Given the description of an element on the screen output the (x, y) to click on. 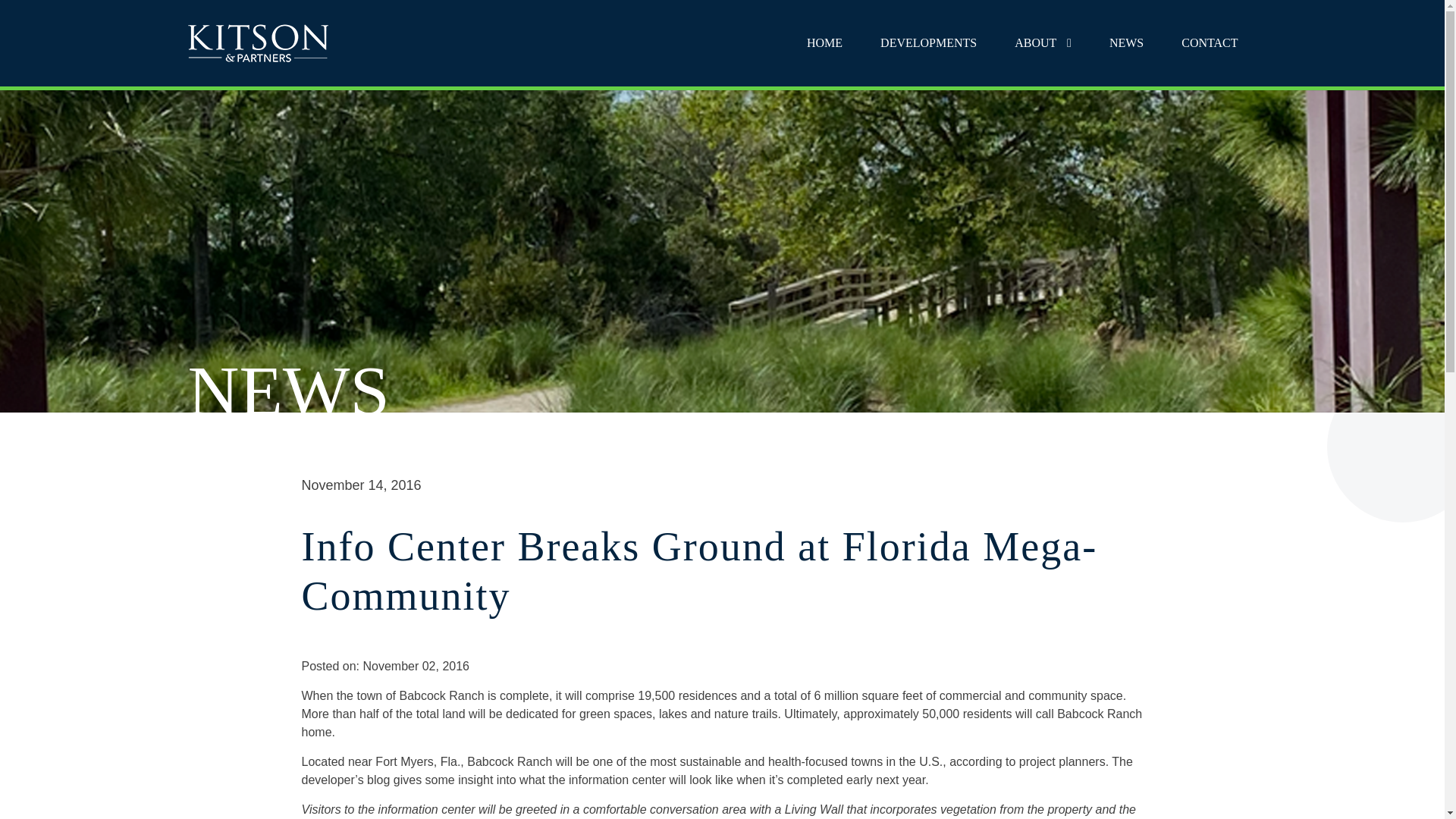
CONTACT (1209, 43)
ABOUT (1042, 43)
DEVELOPMENTS (927, 43)
